Given the description of an element on the screen output the (x, y) to click on. 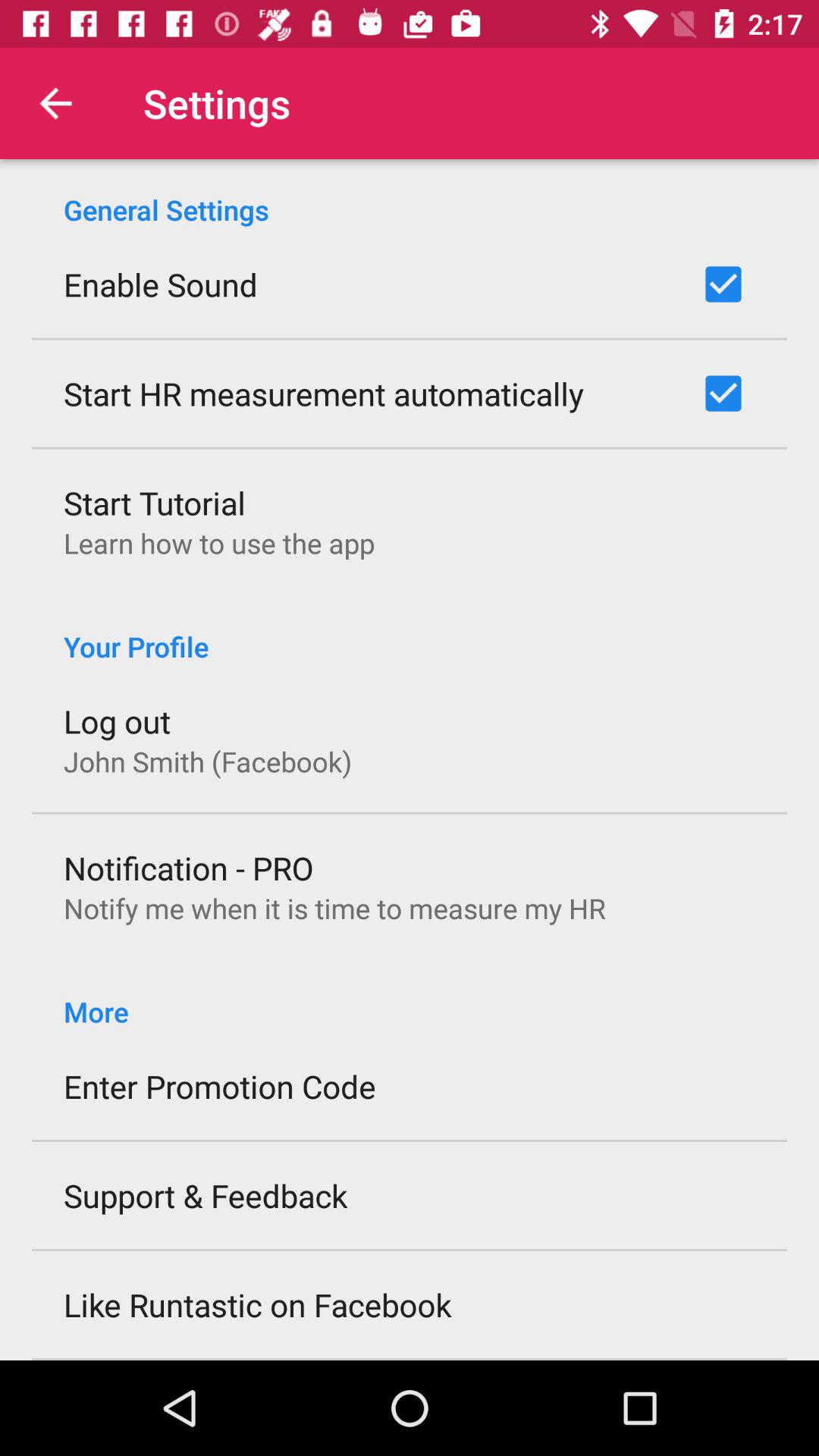
select the start hr measurement (323, 393)
